Given the description of an element on the screen output the (x, y) to click on. 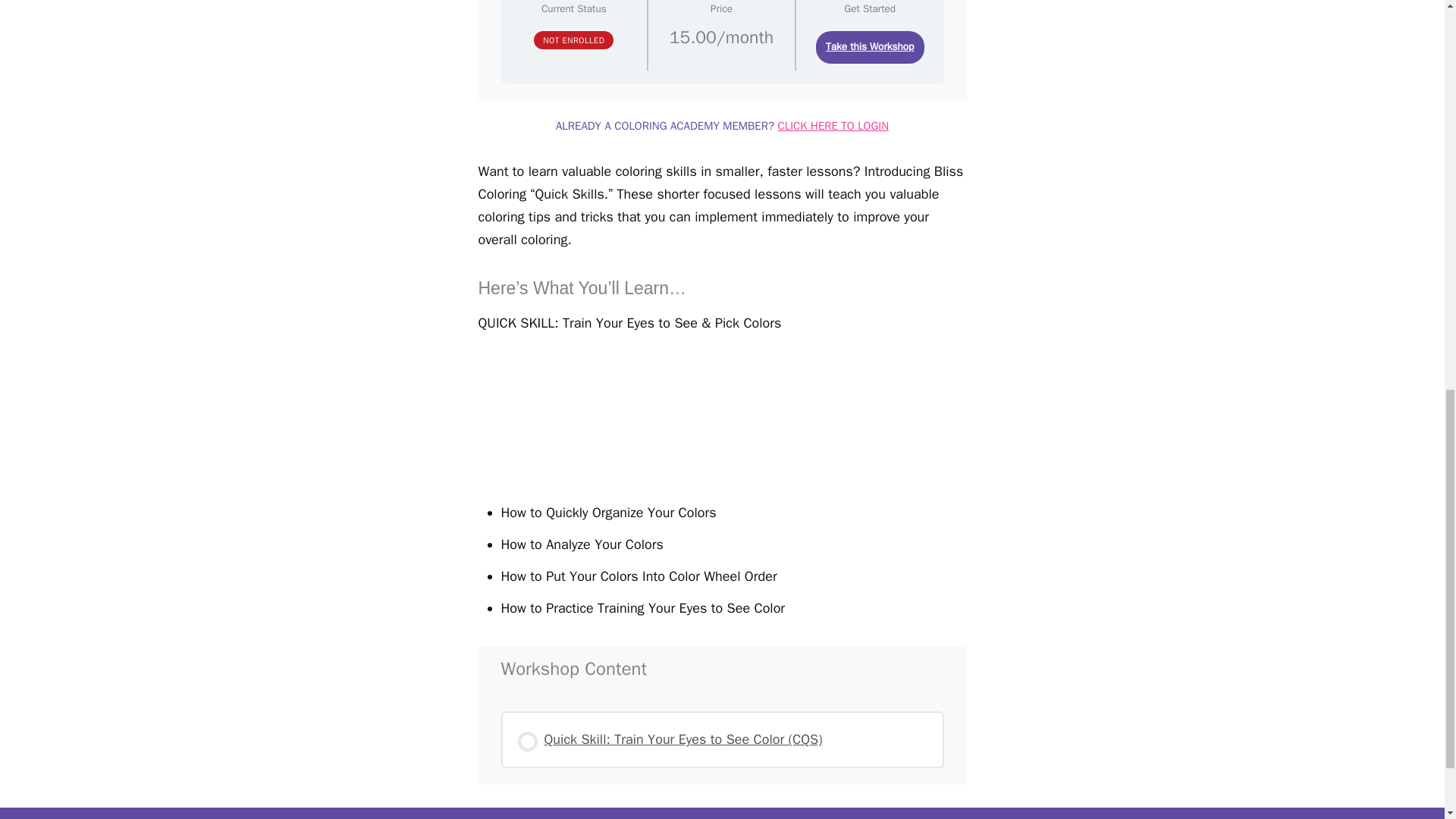
Take this Workshop (869, 46)
Log In (467, 814)
Terms of Service (847, 814)
Log Out (526, 814)
Copyright (724, 814)
Privacy (789, 814)
Cookie Policy (971, 814)
Returns (906, 814)
Privacy Policy (789, 814)
Sitemap Links (655, 814)
